Given the description of an element on the screen output the (x, y) to click on. 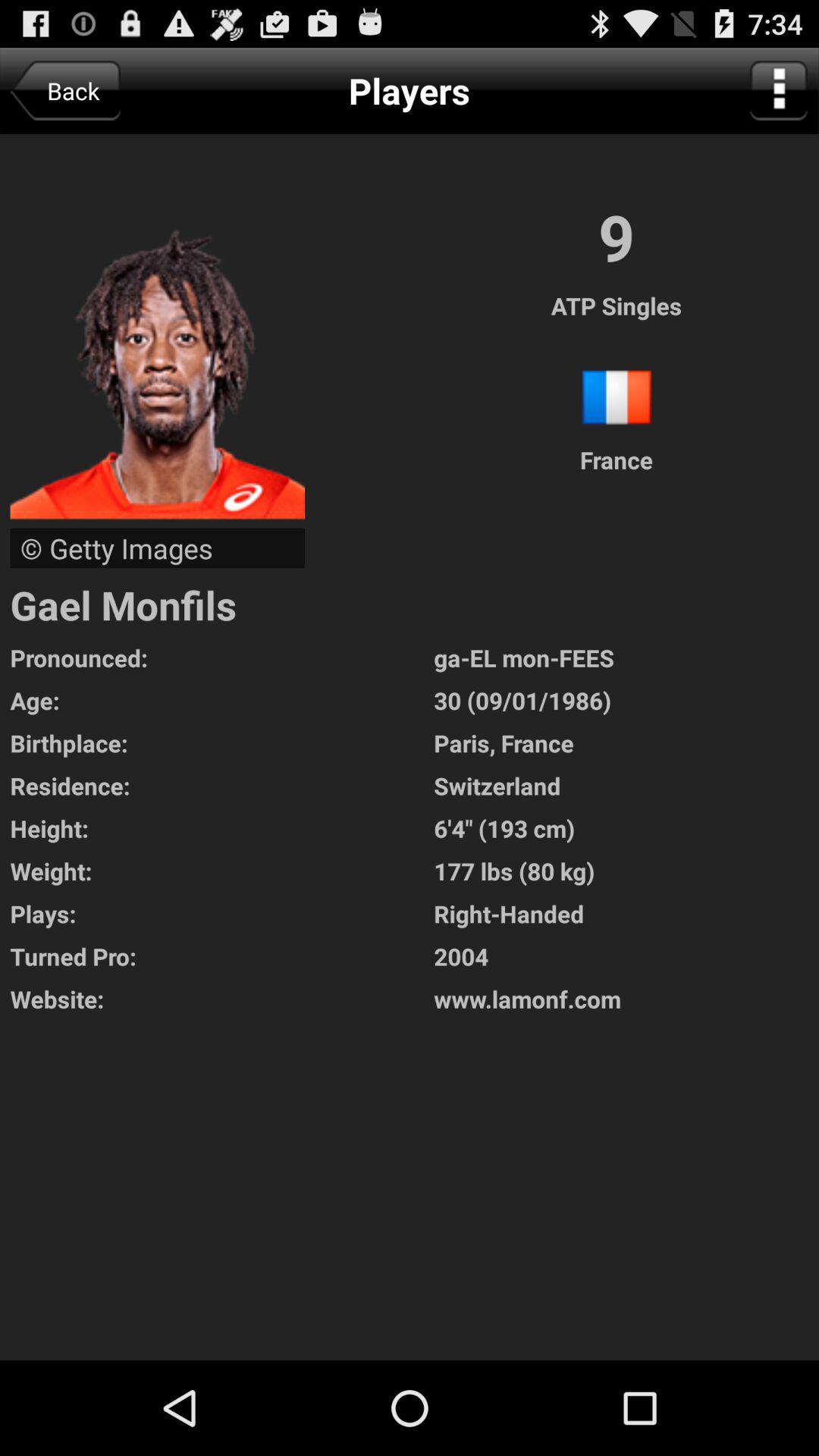
swipe until 177 lbs 80 icon (626, 870)
